Given the description of an element on the screen output the (x, y) to click on. 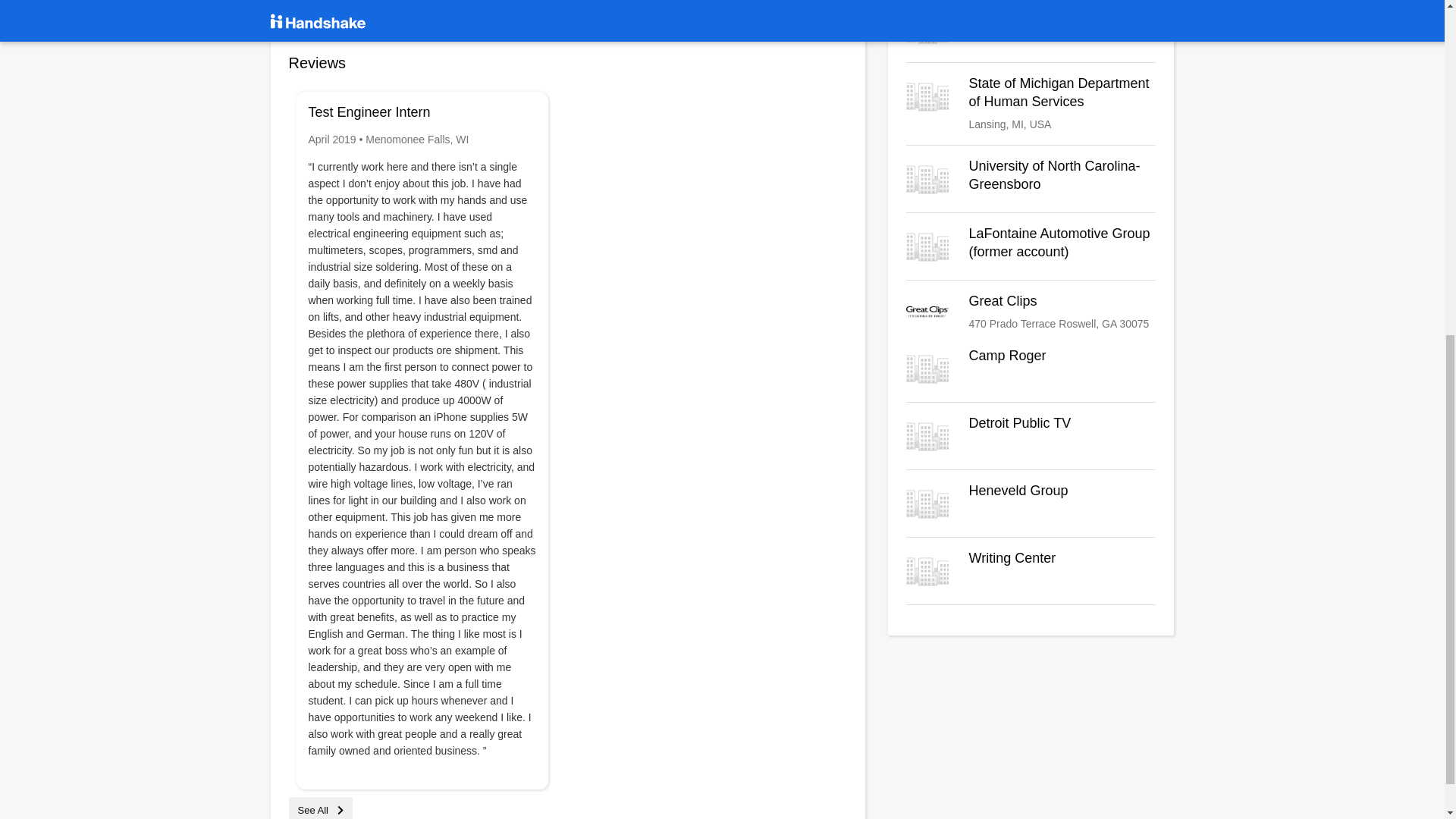
Heneveld Group (1030, 503)
Writing Center (1030, 570)
Detroit Public TV (1030, 435)
Great Clips (1030, 313)
See All (320, 809)
Golf (1030, 28)
Heneveld Group (1030, 503)
Golf (1030, 28)
Camp Roger (1030, 368)
Detroit Public TV (1030, 435)
